Given the description of an element on the screen output the (x, y) to click on. 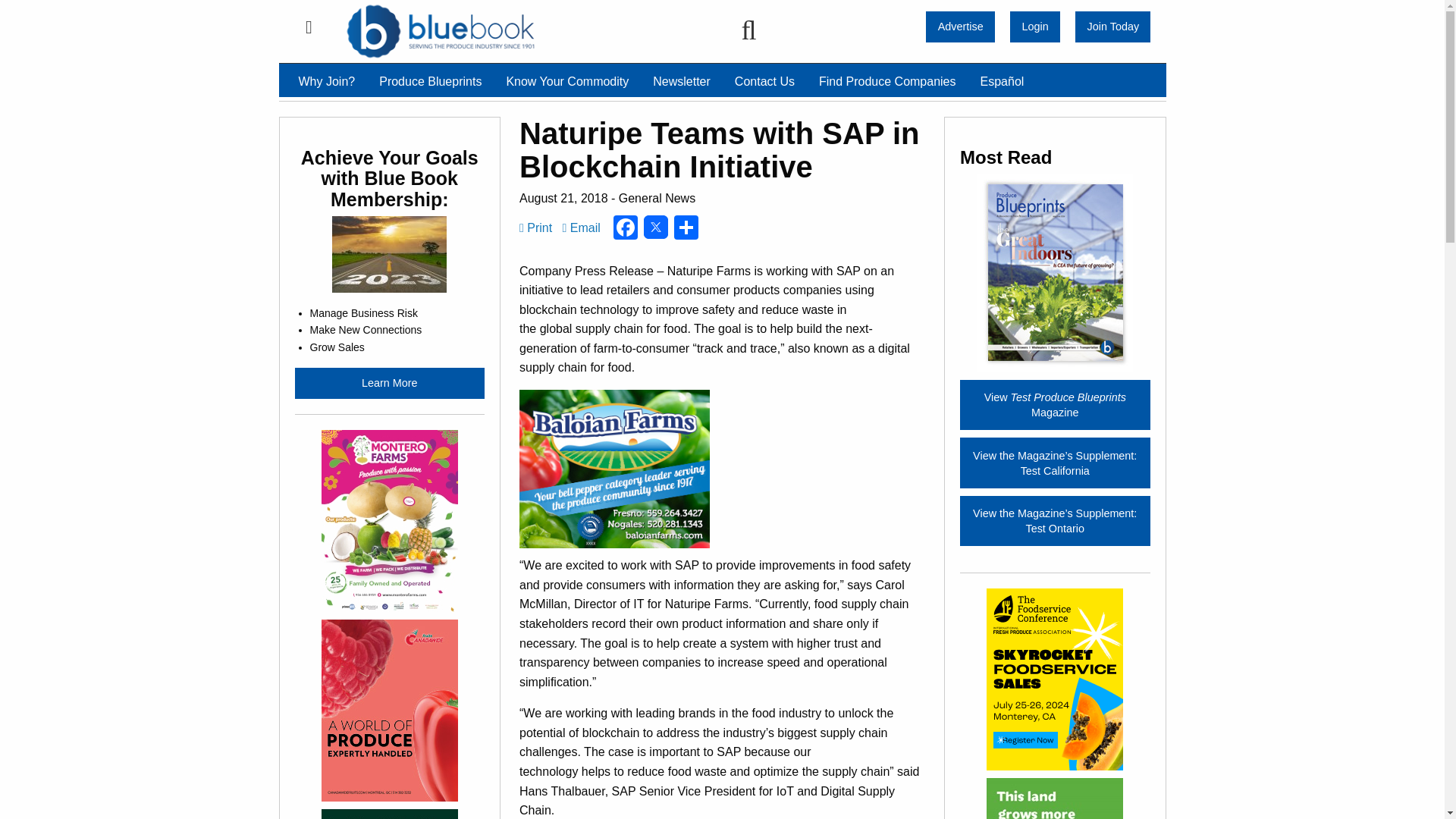
Twitter (655, 229)
Login (1034, 26)
Why Join? (327, 81)
Facebook (625, 229)
Know Your Commodity (566, 81)
Advertise (960, 26)
Produce Blueprints (429, 81)
Join Today (1112, 26)
